Given the description of an element on the screen output the (x, y) to click on. 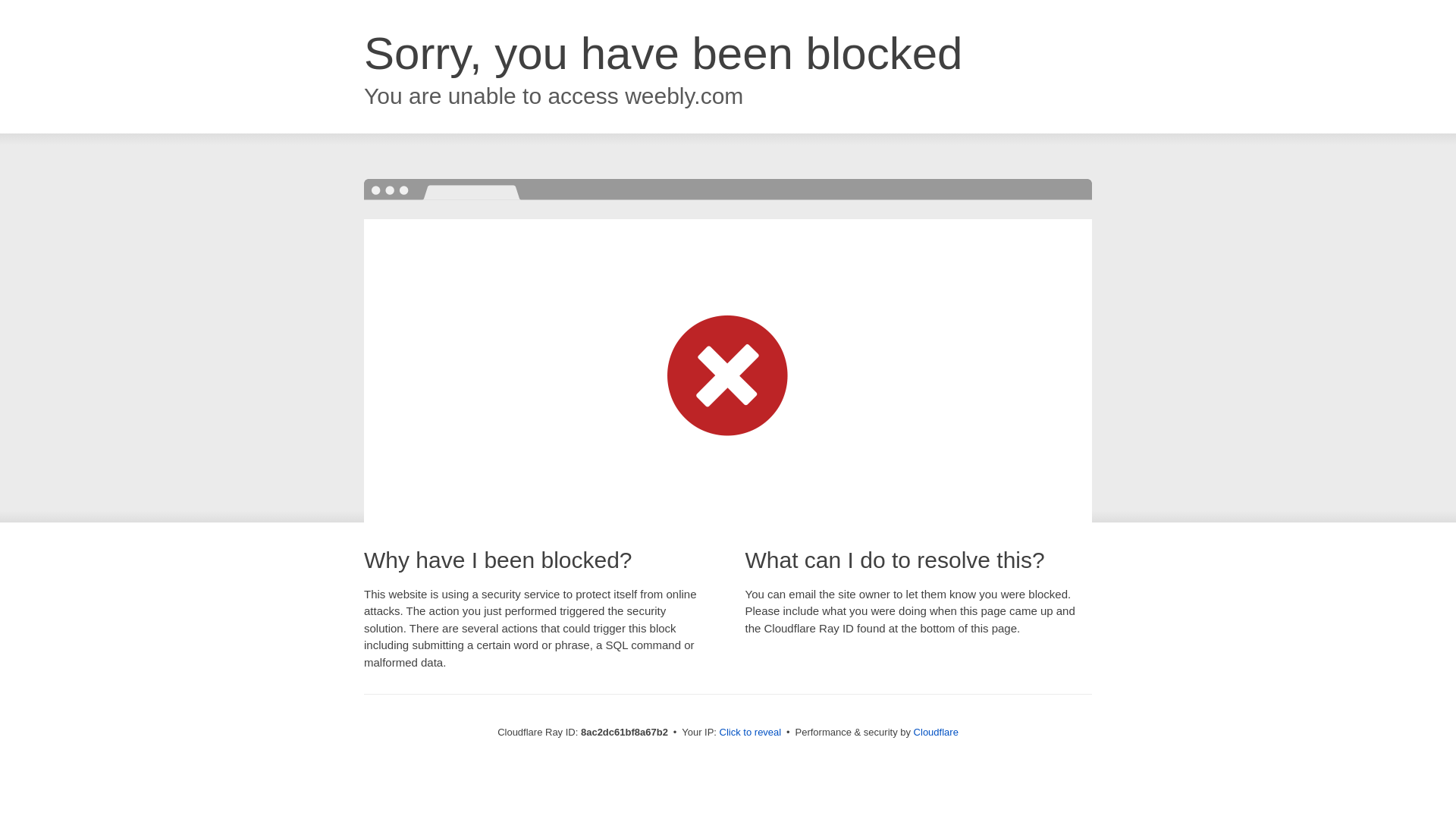
Cloudflare (936, 731)
Click to reveal (750, 732)
